Given the description of an element on the screen output the (x, y) to click on. 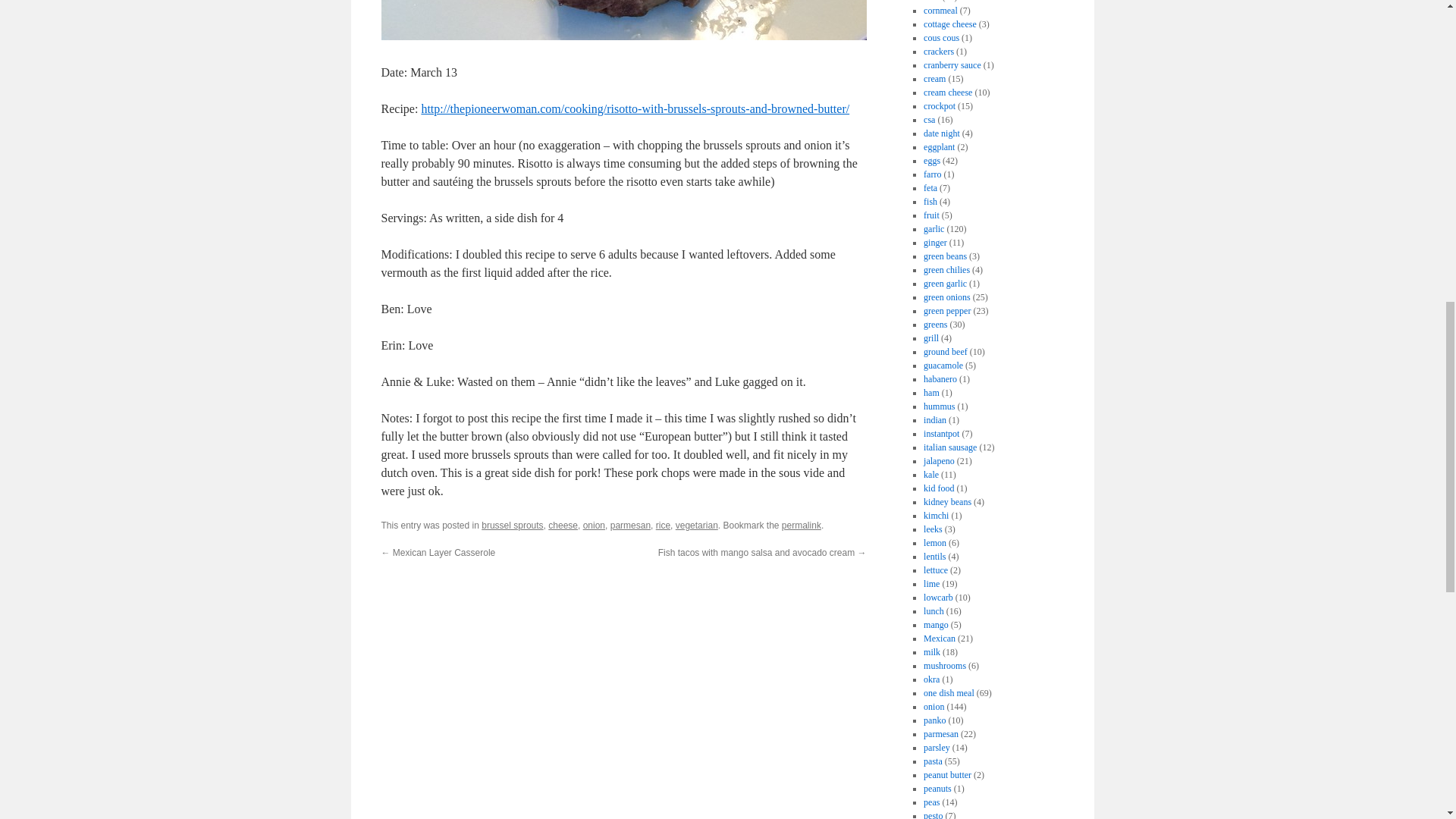
permalink (801, 525)
vegetarian (696, 525)
parmesan (630, 525)
brussel sprouts (512, 525)
Permalink to Brussels sprouts risotto (801, 525)
cheese (563, 525)
onion (594, 525)
Pork chops, risotto and green beans (623, 35)
rice (662, 525)
